Given the description of an element on the screen output the (x, y) to click on. 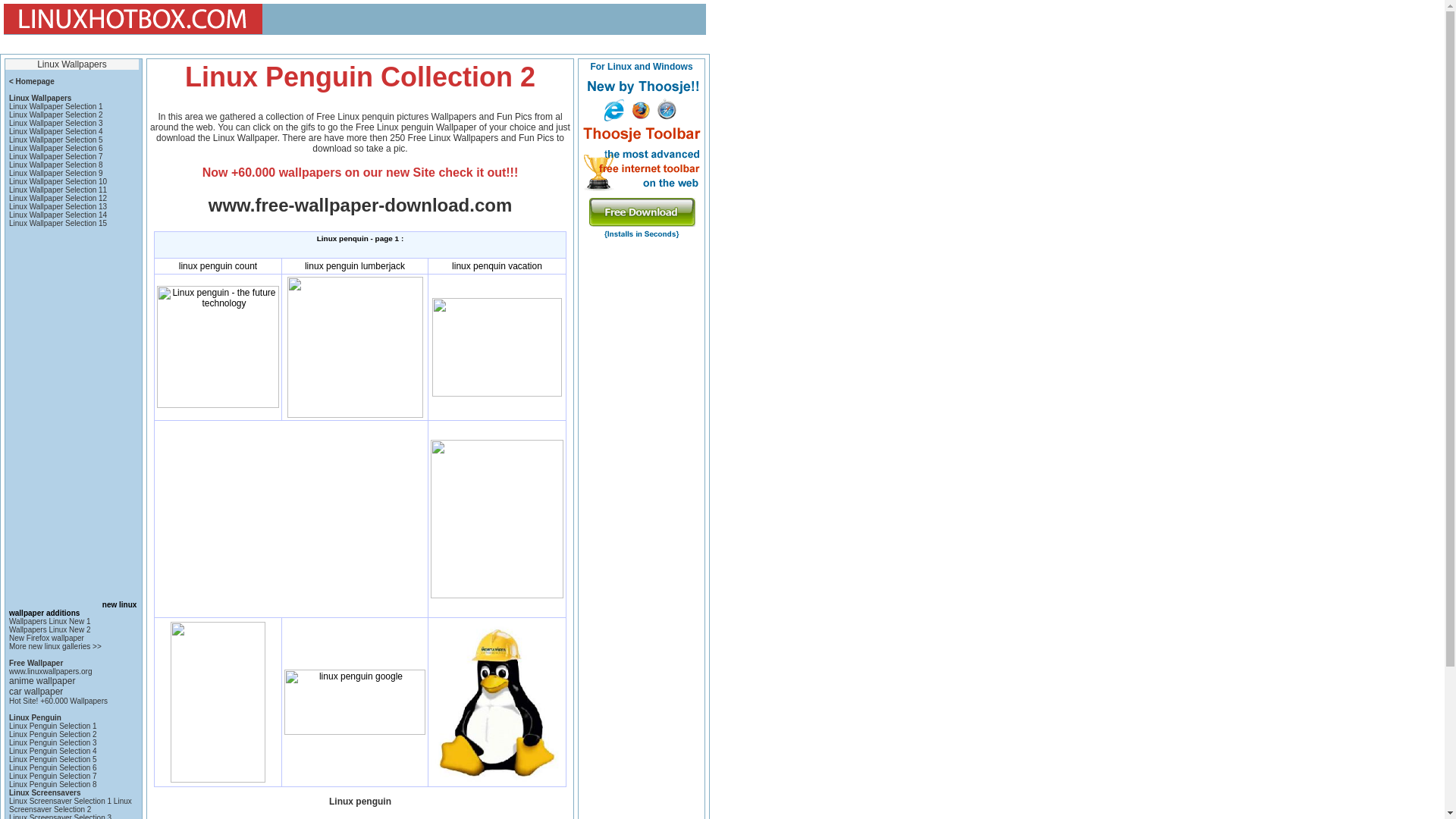
Wallpapers Linux New 1 (49, 621)
Linux Wallpaper Selection 10 (57, 181)
Linux Wallpaper Selection 2 (55, 114)
Linux Wallpaper Selection 6 (55, 148)
New Firefox wallpaper (46, 637)
Linux Penguin Selection 4 (52, 750)
car wallpaper (35, 691)
Linux Wallpaper Selection 13 (57, 206)
Linux Wallpaper Selection 3 (55, 122)
Linux Penguin Selection 6 (52, 767)
Linux Penguin Selection 3 (52, 742)
Linux Wallpaper Selection 1 (55, 106)
Linux Wallpaper Selection 15 (57, 223)
Linux Penguin Selection 2 (52, 734)
Linux Screensaver Selection 2 (70, 805)
